Given the description of an element on the screen output the (x, y) to click on. 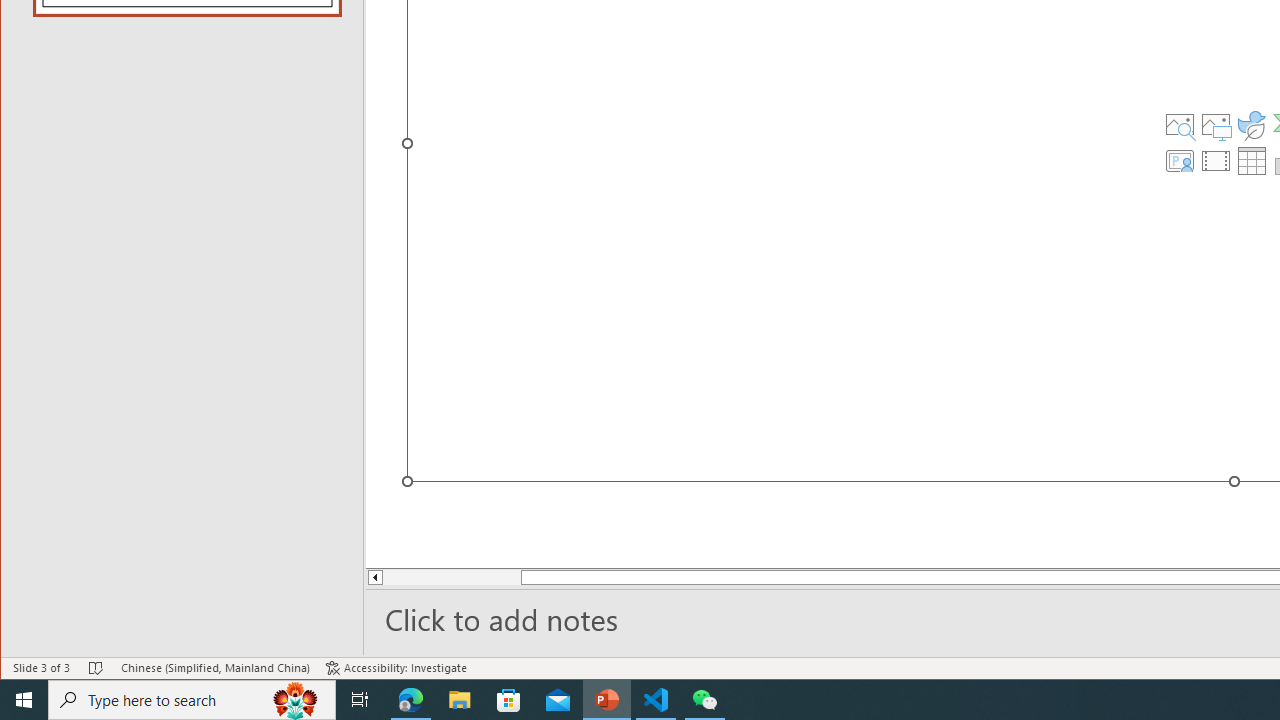
Accessibility Checker Accessibility: Investigate (395, 668)
WeChat - 1 running window (704, 699)
Microsoft Edge - 1 running window (411, 699)
Insert Cameo (1179, 160)
Search highlights icon opens search home window (295, 699)
